Given the description of an element on the screen output the (x, y) to click on. 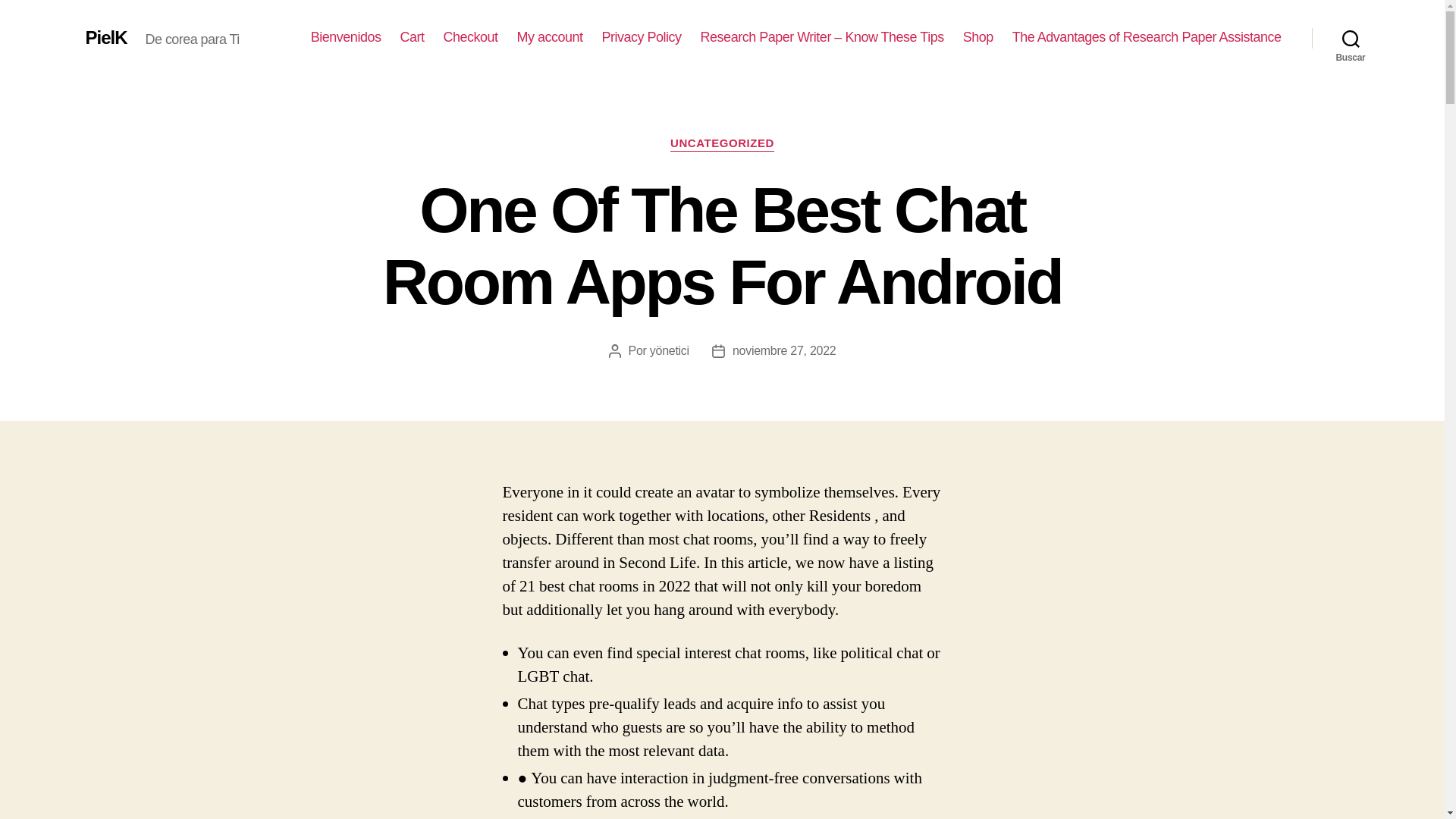
noviembre 27, 2022 (783, 350)
Bienvenidos (346, 37)
UNCATEGORIZED (721, 143)
Privacy Policy (641, 37)
PielK (105, 37)
Shop (977, 37)
Checkout (469, 37)
My account (549, 37)
Cart (410, 37)
Buscar (1350, 37)
